Given the description of an element on the screen output the (x, y) to click on. 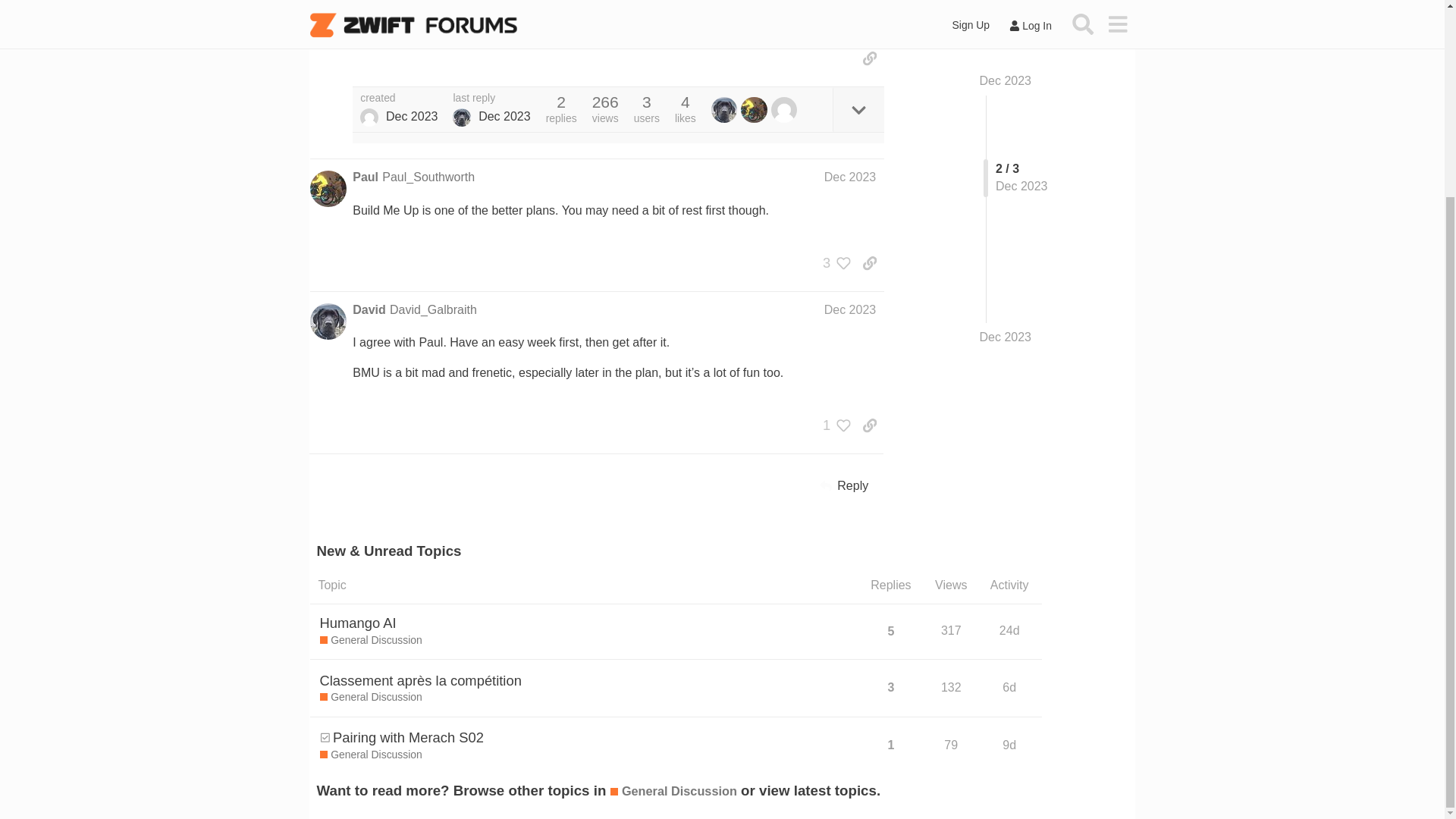
David (368, 310)
Paul (365, 176)
Dec 2023 (850, 176)
Dec 2023 (850, 309)
1 (832, 425)
Jump to the last post (1005, 164)
Dec 29, 2023 8:08 am (411, 116)
Ronald (368, 117)
David (461, 117)
3 (832, 263)
expand topic details (857, 108)
Dec 2023 (1005, 164)
last reply (490, 98)
copy a link to this post to clipboard (869, 58)
